Given the description of an element on the screen output the (x, y) to click on. 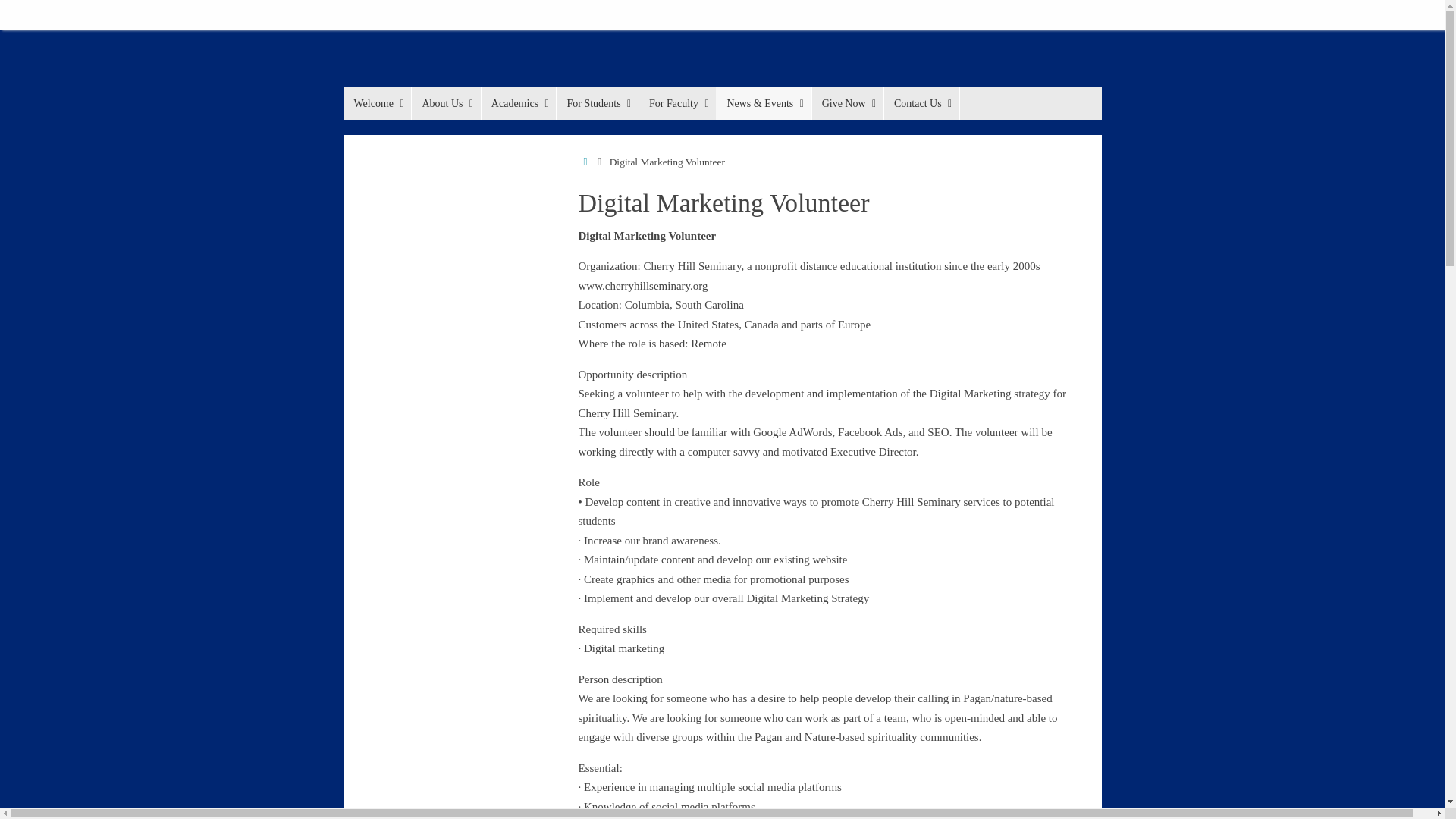
Welcome (376, 102)
Academics (518, 102)
Cherry Hill Seminary (456, 87)
About Us (445, 102)
